Given the description of an element on the screen output the (x, y) to click on. 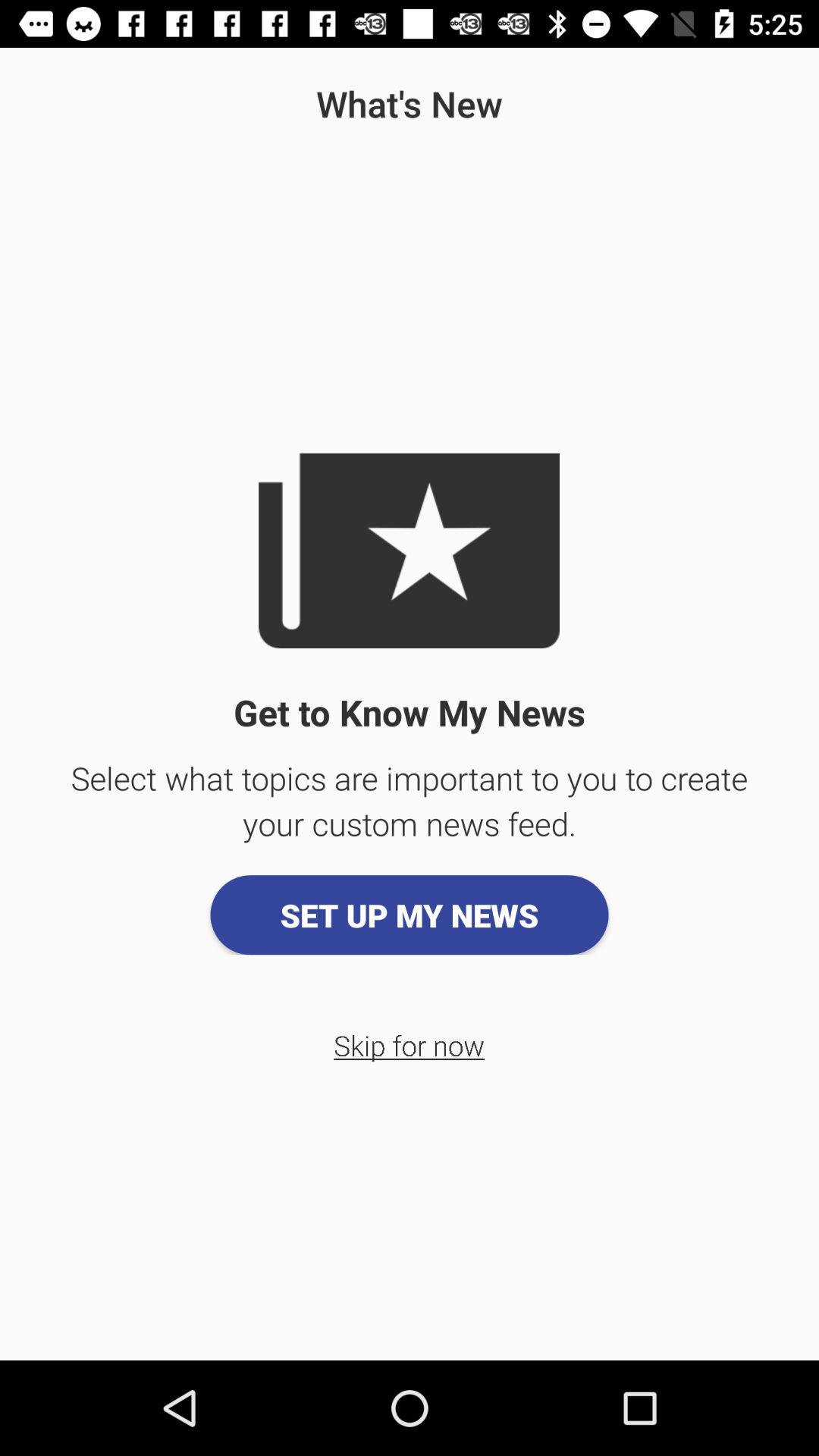
open the app below select what topics app (409, 914)
